Given the description of an element on the screen output the (x, y) to click on. 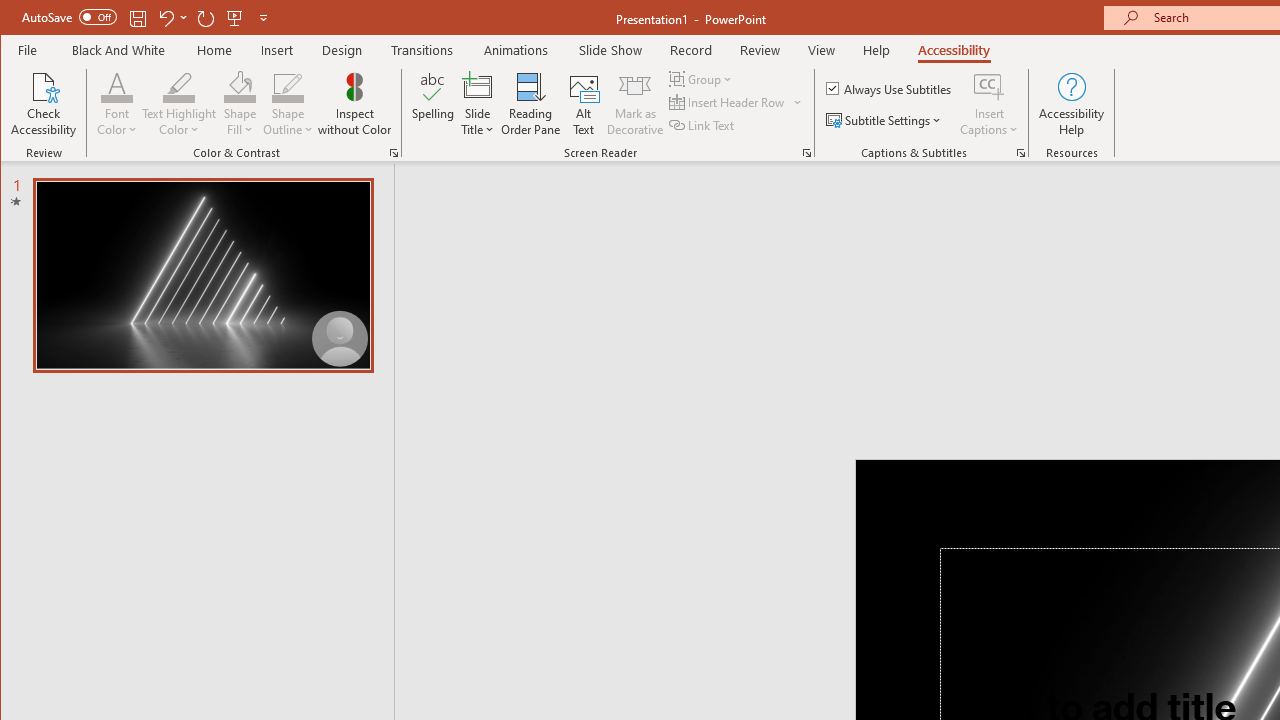
Accessibility Help (1071, 104)
Insert Header Row (728, 101)
Insert Captions (989, 104)
Inspect without Color (355, 104)
Shape Fill Orange, Accent 2 (239, 86)
Reading Order Pane (531, 104)
Insert Captions (989, 86)
